Given the description of an element on the screen output the (x, y) to click on. 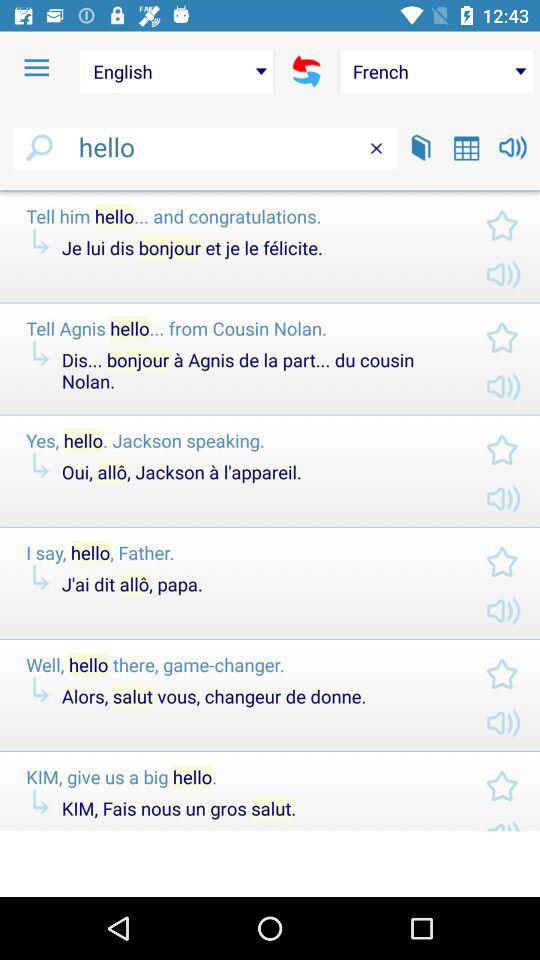
dictionary lookup (421, 147)
